Given the description of an element on the screen output the (x, y) to click on. 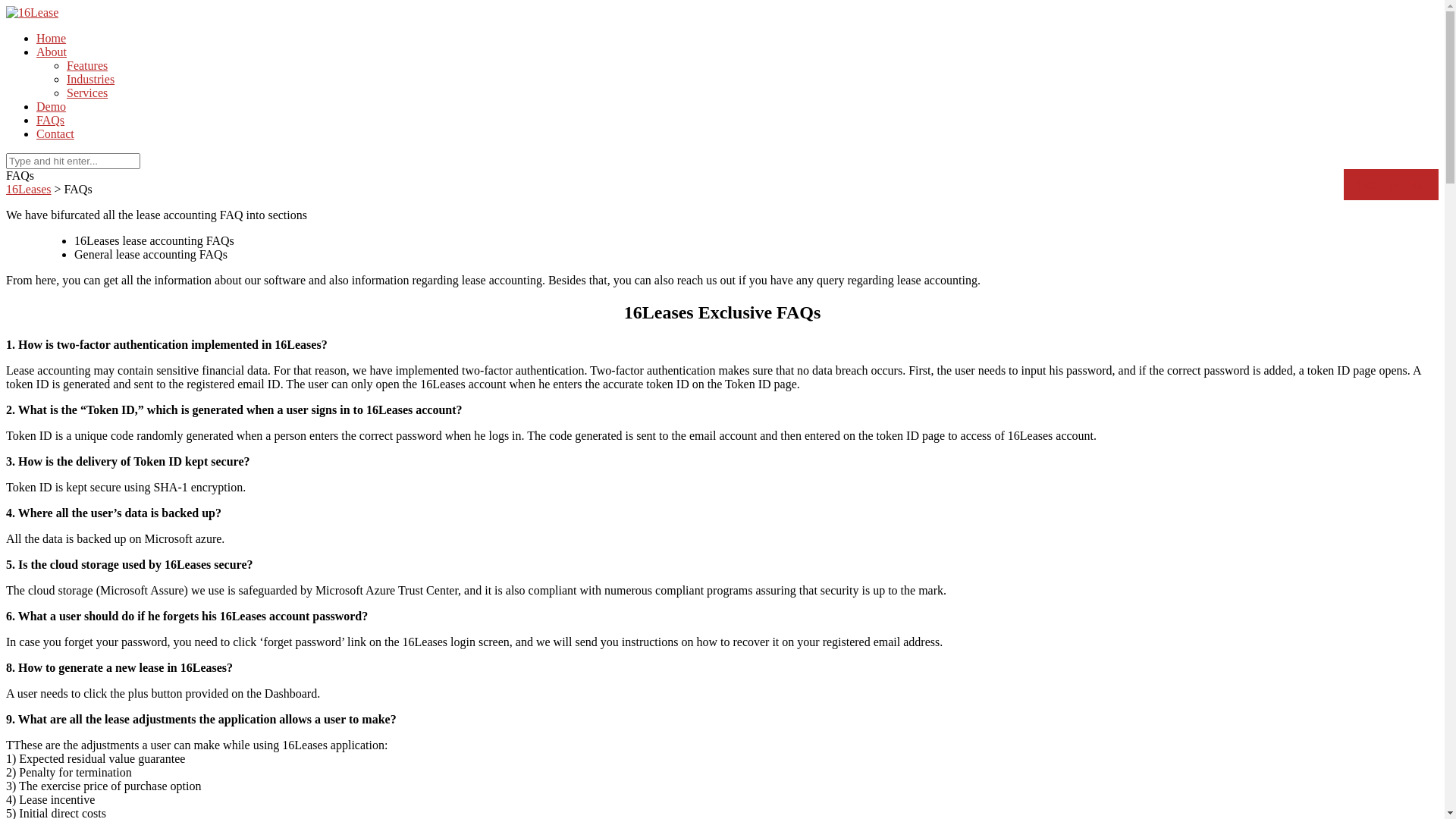
FAQs Element type: text (50, 119)
Get Free Trial Element type: text (1390, 184)
Contact Element type: text (55, 133)
Industries Element type: text (90, 78)
Services Element type: text (86, 92)
Demo Element type: text (50, 106)
16Leases Element type: text (28, 188)
About Element type: text (51, 51)
Home Element type: text (50, 37)
Features Element type: text (86, 65)
